Given the description of an element on the screen output the (x, y) to click on. 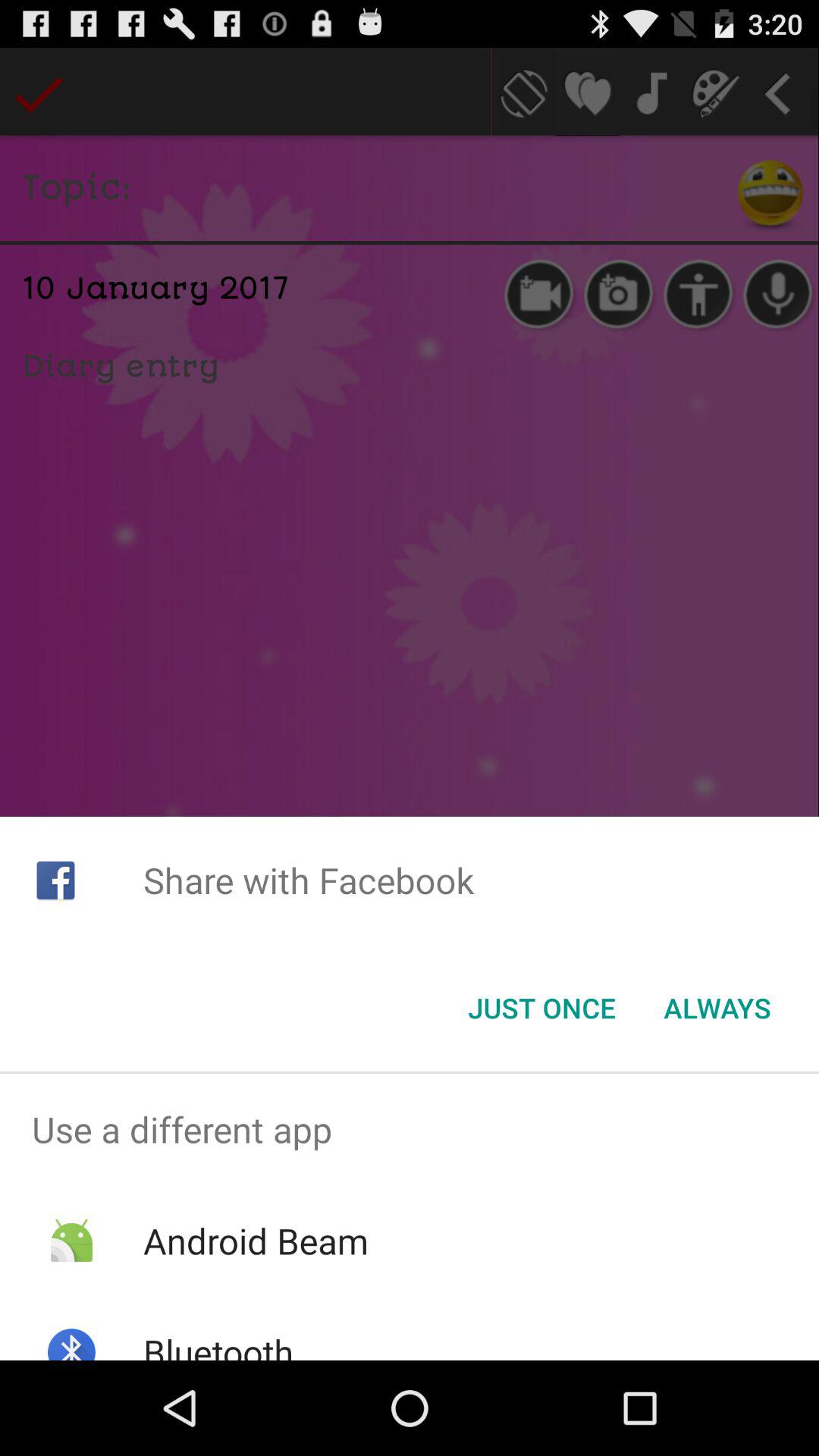
scroll until always item (717, 1007)
